Given the description of an element on the screen output the (x, y) to click on. 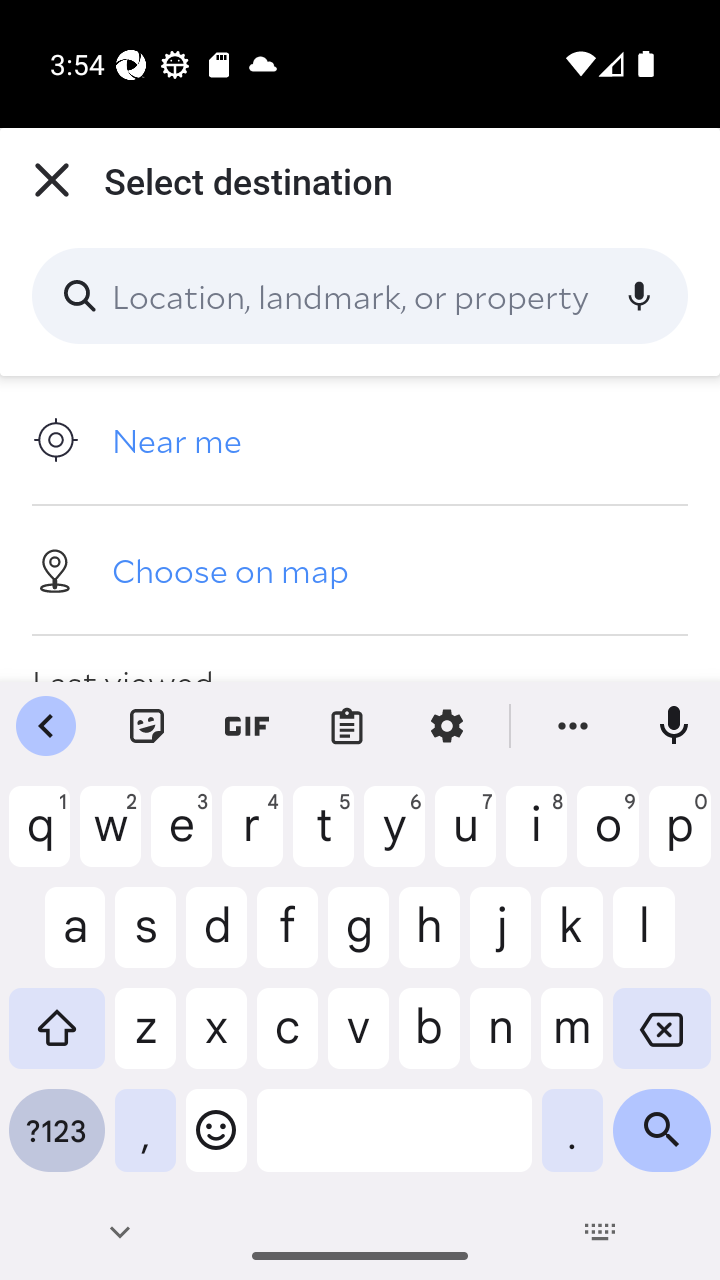
Location, landmark, or property (359, 296)
Near me (360, 440)
Choose on map (360, 569)
